Given the description of an element on the screen output the (x, y) to click on. 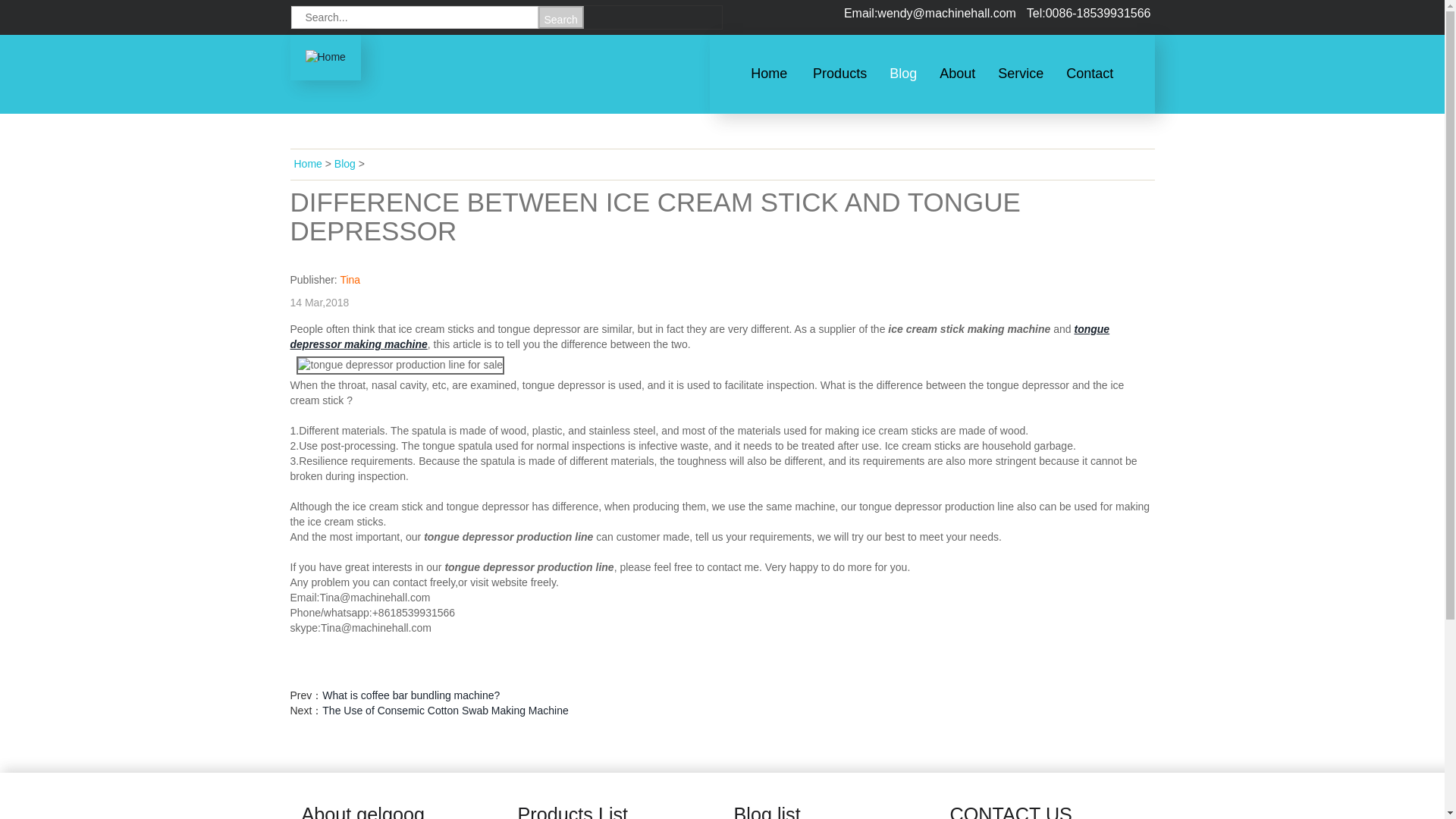
Contact (1089, 73)
The Use of Consemic Cotton Swab Making Machine (444, 710)
Tel (1088, 12)
About (957, 73)
Home (769, 73)
tongue depressor making machine (699, 336)
Home (324, 56)
Tel:0086-18539931566 (1088, 12)
Products (839, 73)
Service (1020, 73)
